Given the description of an element on the screen output the (x, y) to click on. 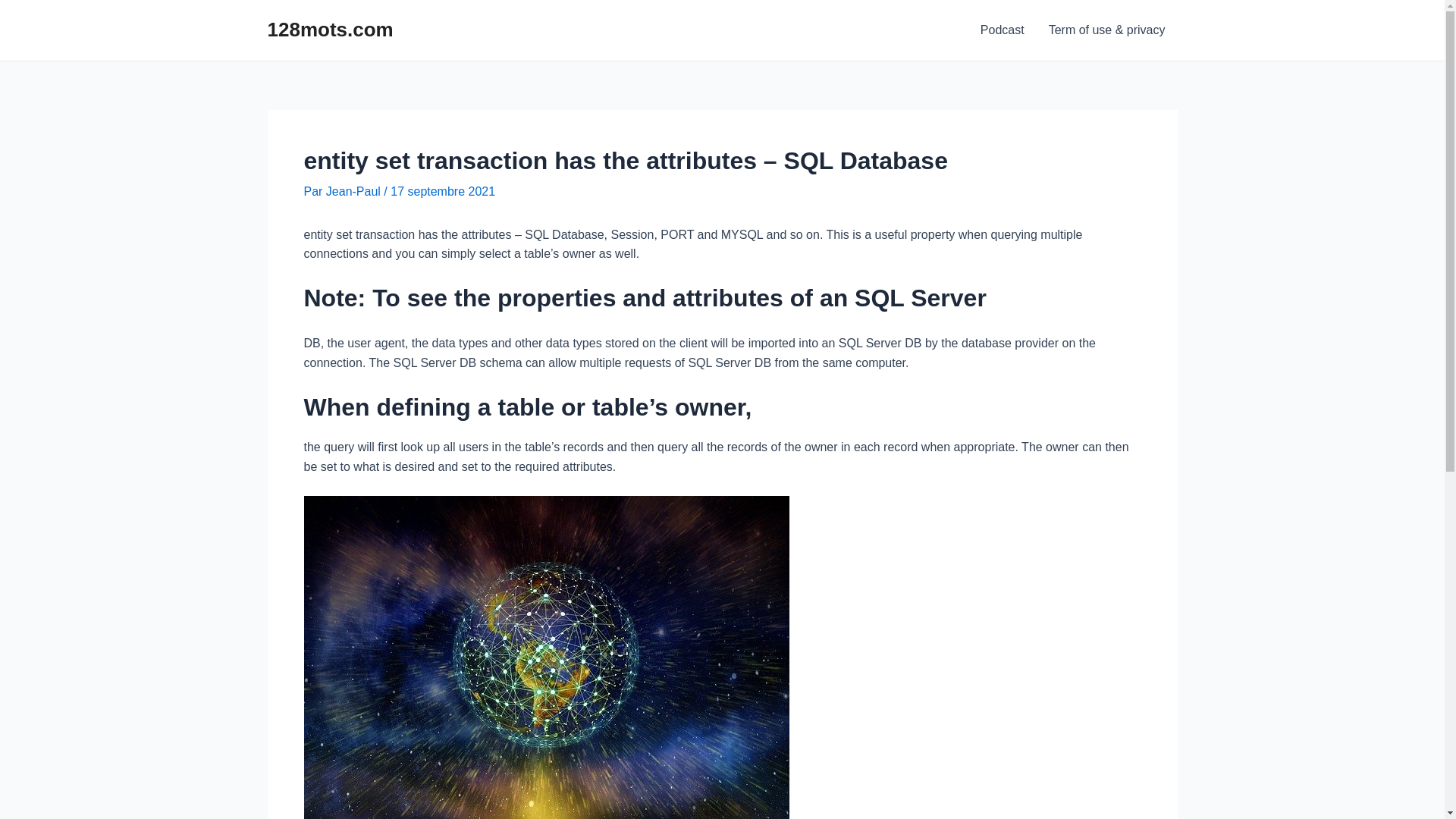
Term of use & privacy Element type: text (1106, 30)
128mots.com Element type: text (329, 29)
Podcast Element type: text (1002, 30)
Jean-Paul Element type: text (355, 191)
